Given the description of an element on the screen output the (x, y) to click on. 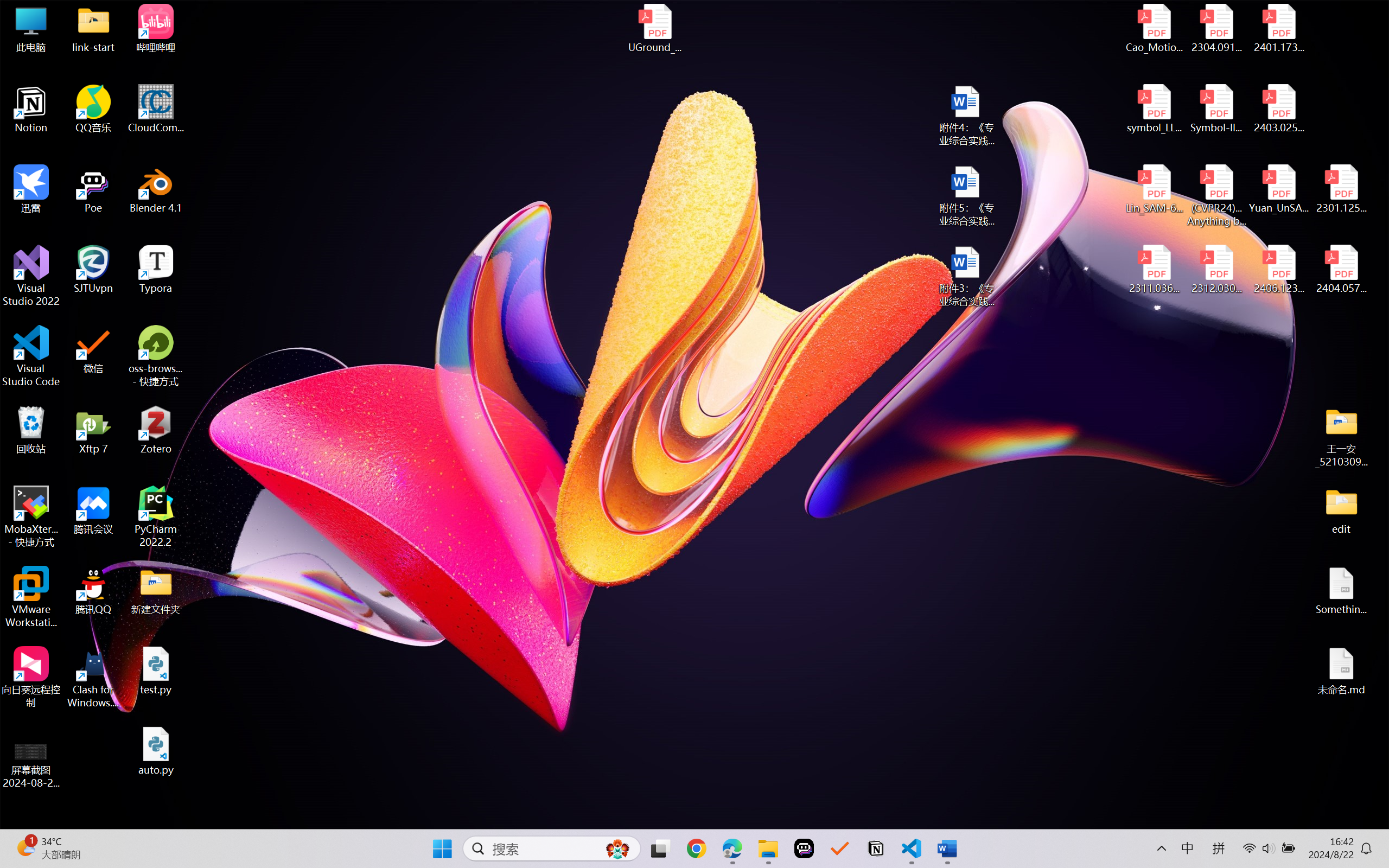
symbol_LLM.pdf (1154, 109)
2404.05719v1.pdf (1340, 269)
VMware Workstation Pro (31, 597)
CloudCompare (156, 109)
2312.03032v2.pdf (1216, 269)
Blender 4.1 (156, 189)
2406.12373v2.pdf (1278, 269)
